Given the description of an element on the screen output the (x, y) to click on. 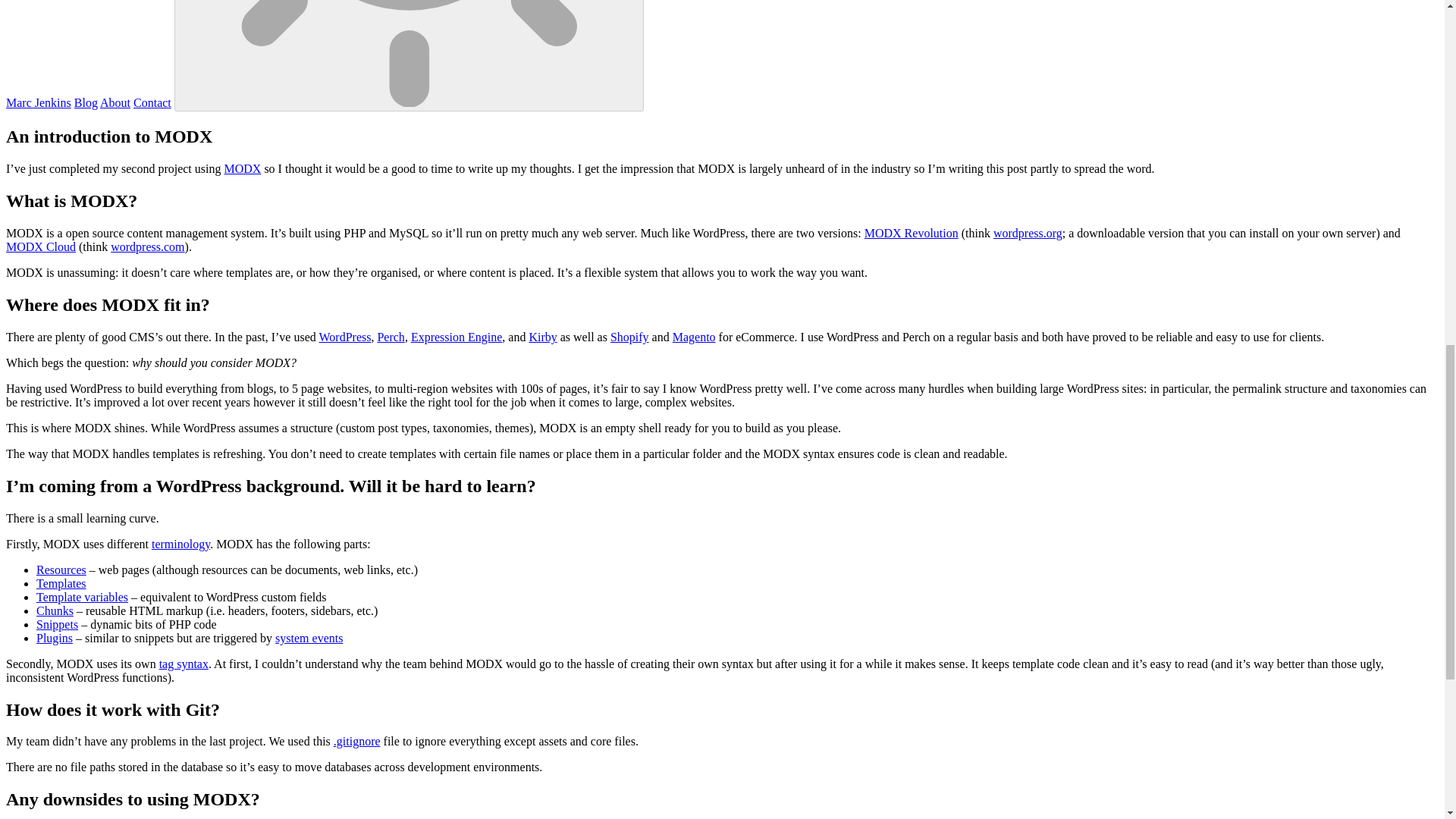
Plugins (54, 637)
Marc Jenkins (38, 102)
Blog (85, 102)
Perch (390, 336)
Expression Engine (456, 336)
Resources (60, 569)
About (115, 102)
MODX Revolution (911, 232)
.gitignore (356, 740)
Kirby (542, 336)
